Given the description of an element on the screen output the (x, y) to click on. 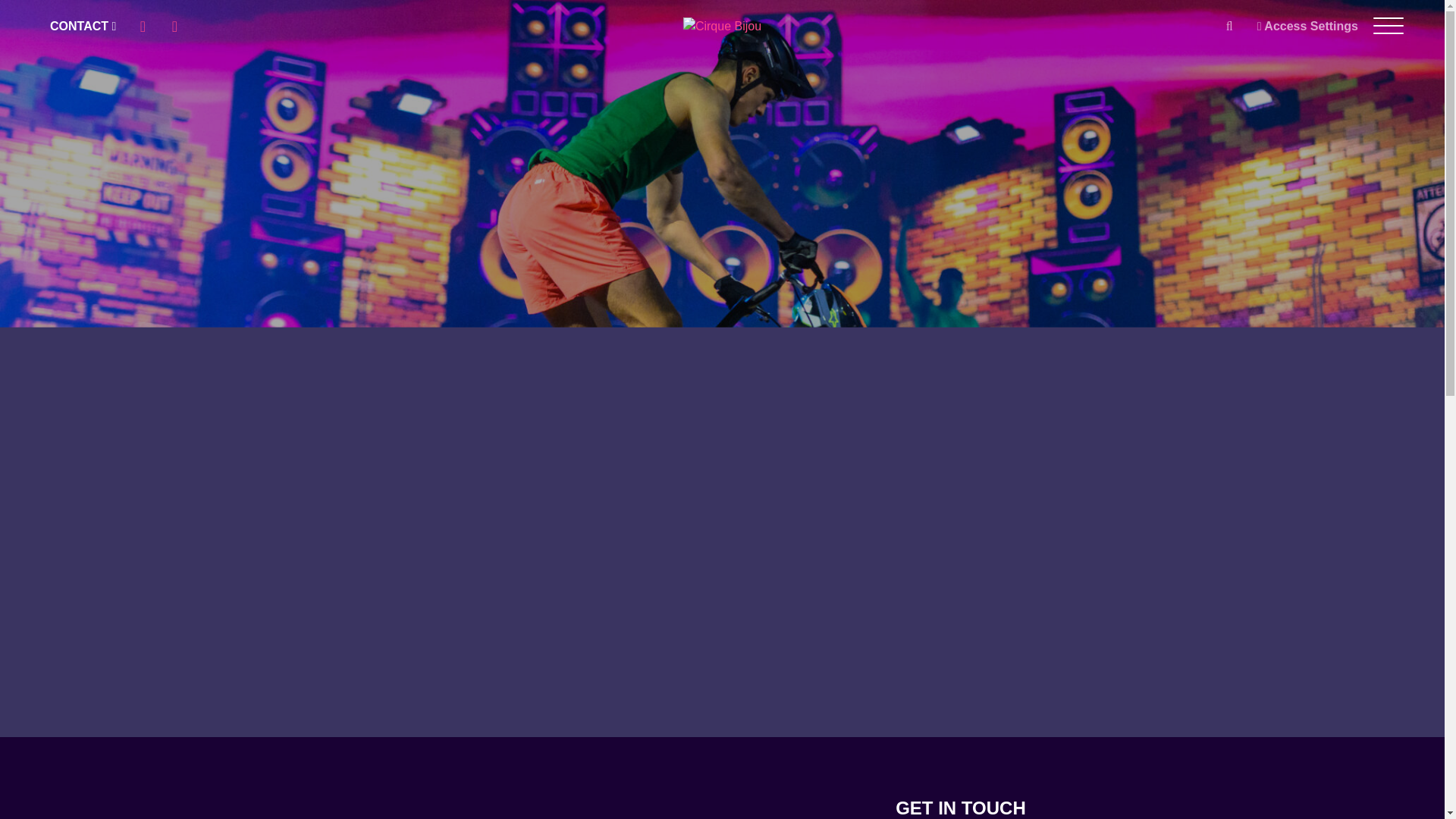
search (1229, 26)
CONTACT (82, 26)
Access Settings (1307, 26)
Menu (1388, 26)
